Given the description of an element on the screen output the (x, y) to click on. 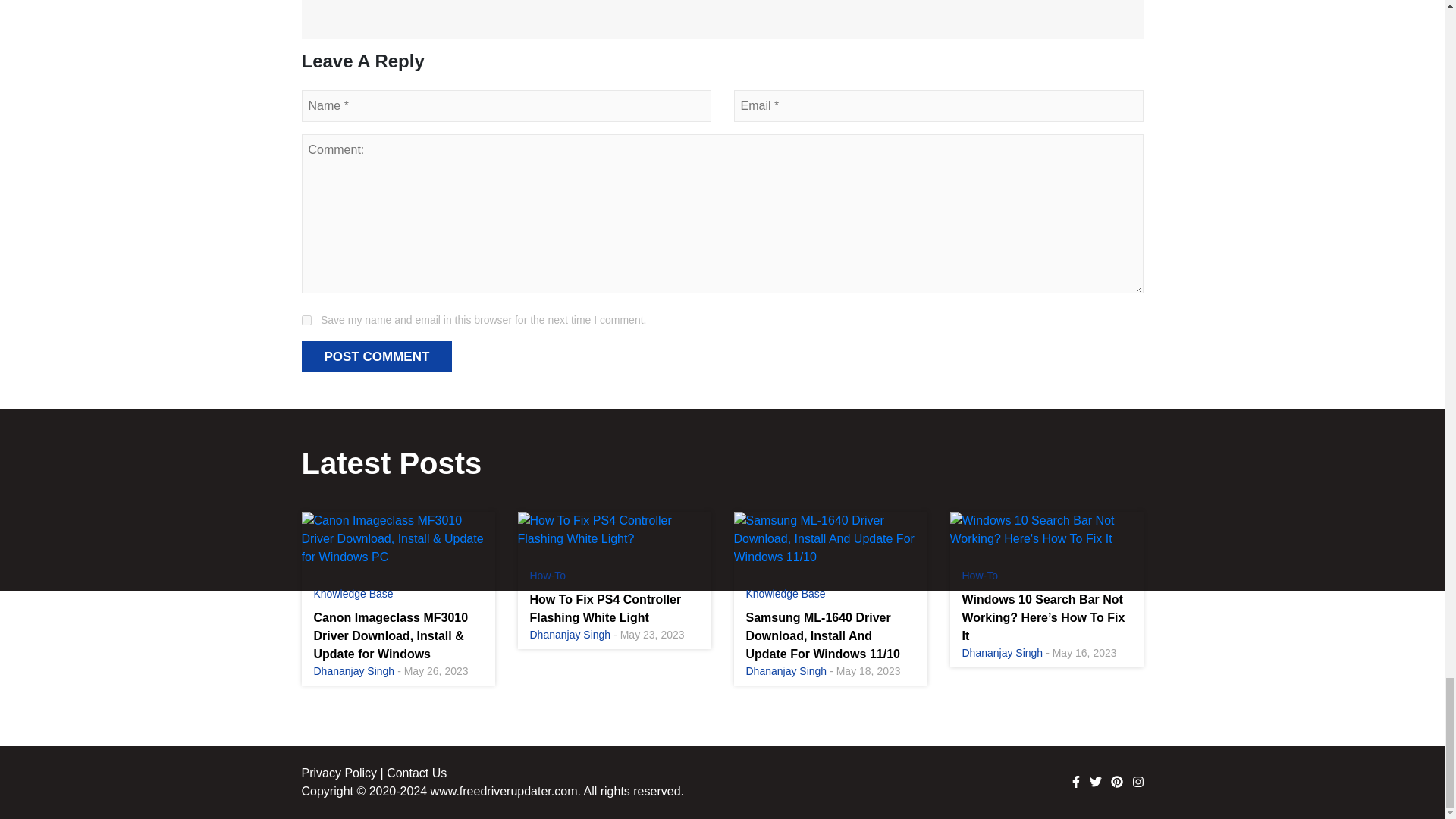
How To Fix PS4 Controller Flashing White Light? (613, 529)
POST COMMENT (376, 357)
yes (306, 320)
Knowledge Base (353, 593)
POST COMMENT (376, 357)
Windows 10 Search Bar Not Working? Here's How To Fix It (1045, 529)
Dhananjay Singh (354, 671)
